Given the description of an element on the screen output the (x, y) to click on. 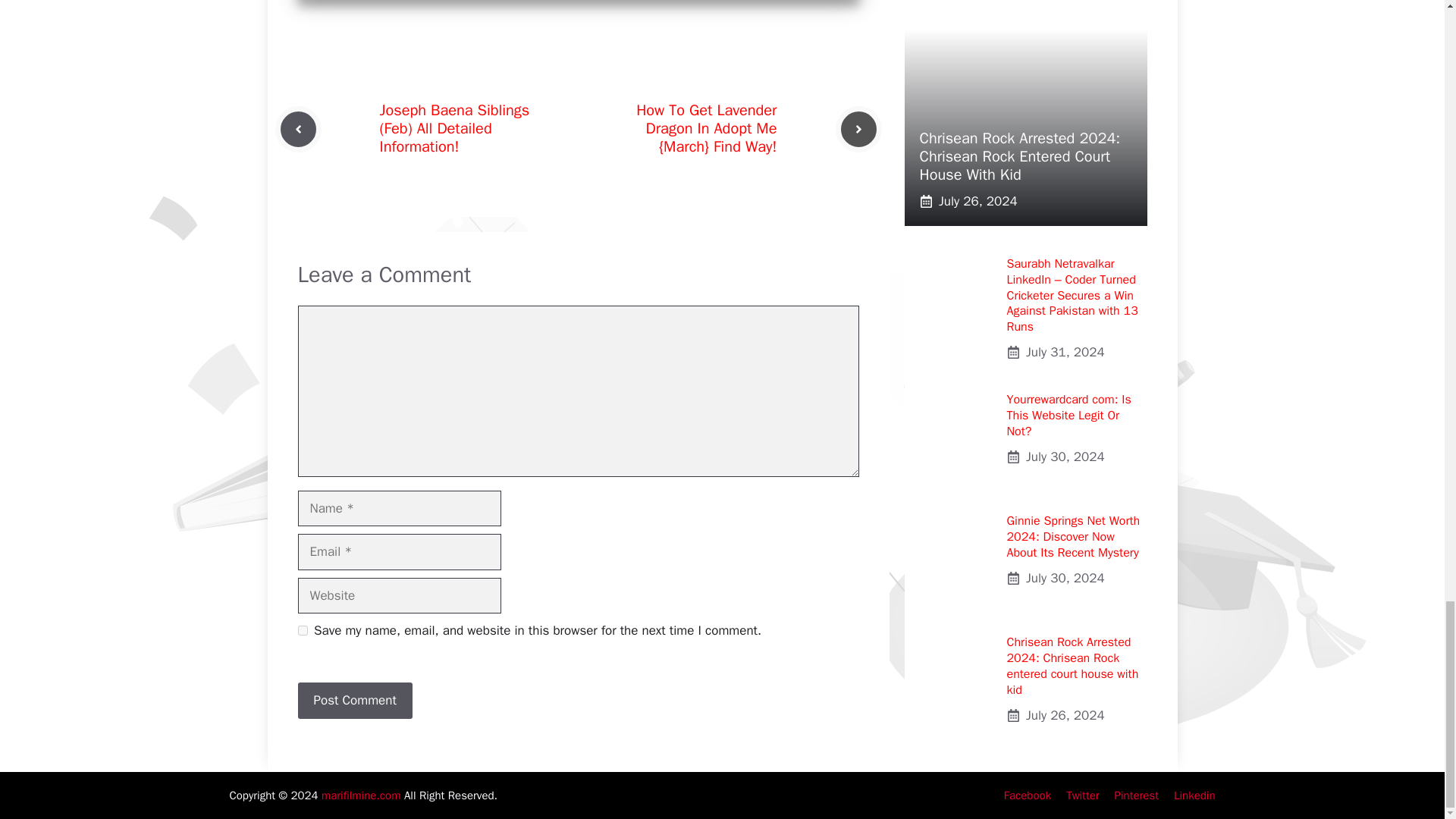
yes (302, 630)
Post Comment (354, 700)
